Given the description of an element on the screen output the (x, y) to click on. 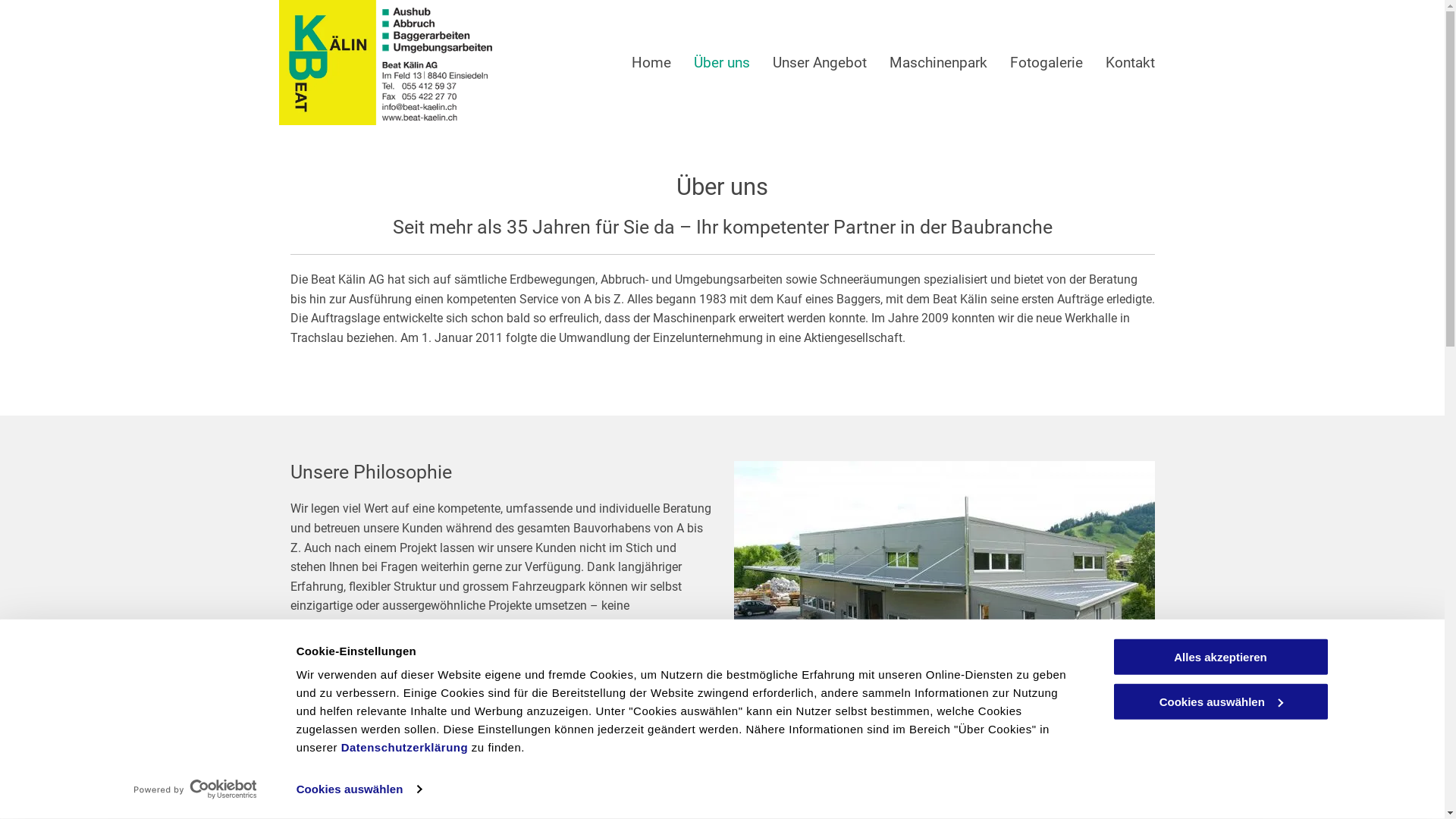
Kontakt Element type: text (1129, 62)
Zum Angebot Element type: text (345, 701)
Maschinenpark Element type: text (937, 62)
Home Element type: text (650, 62)
Unser Angebot Element type: text (818, 62)
Alles akzeptieren Element type: text (1219, 656)
Fotogalerie Element type: text (1046, 62)
